Given the description of an element on the screen output the (x, y) to click on. 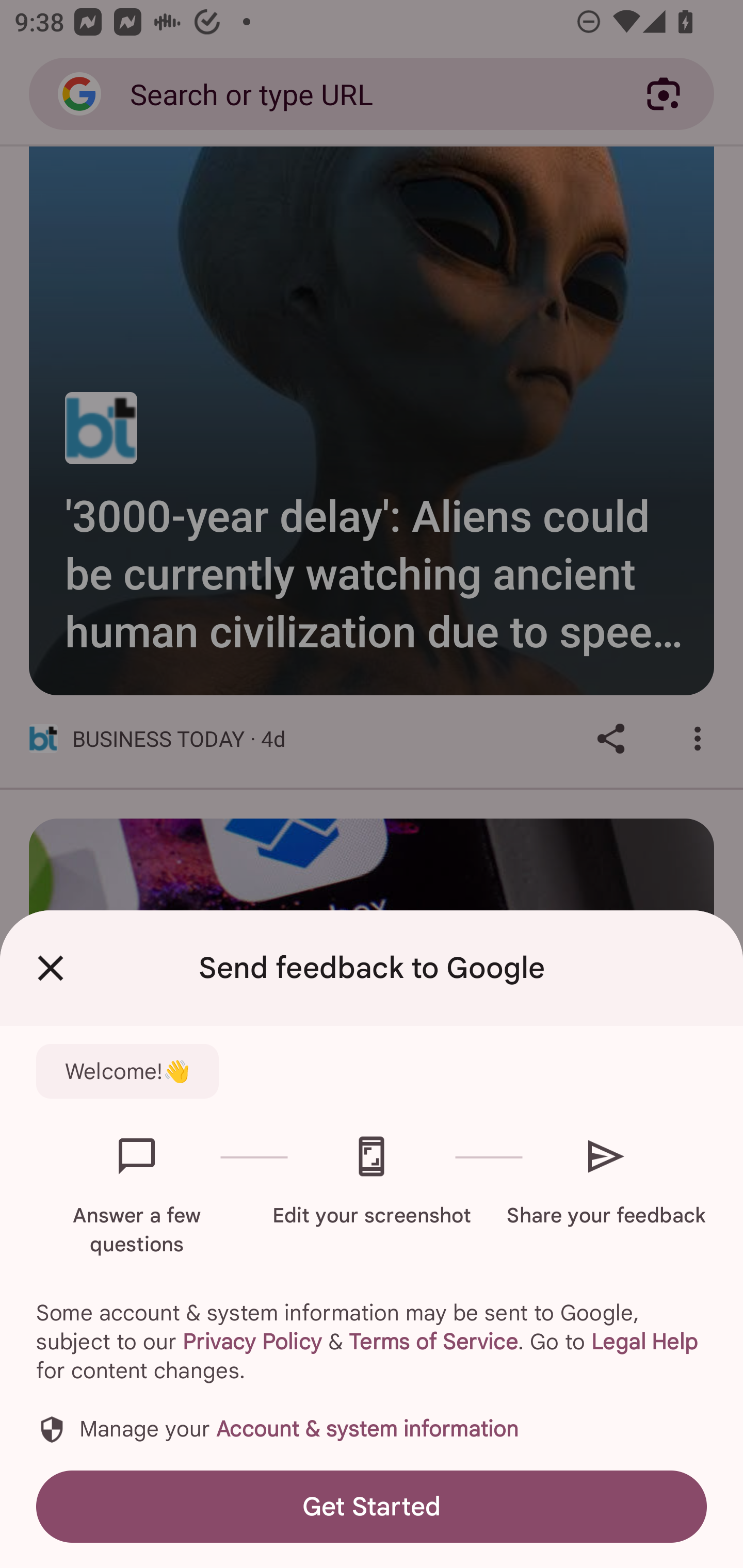
Close Feedback (50, 968)
Get Started (371, 1505)
